Given the description of an element on the screen output the (x, y) to click on. 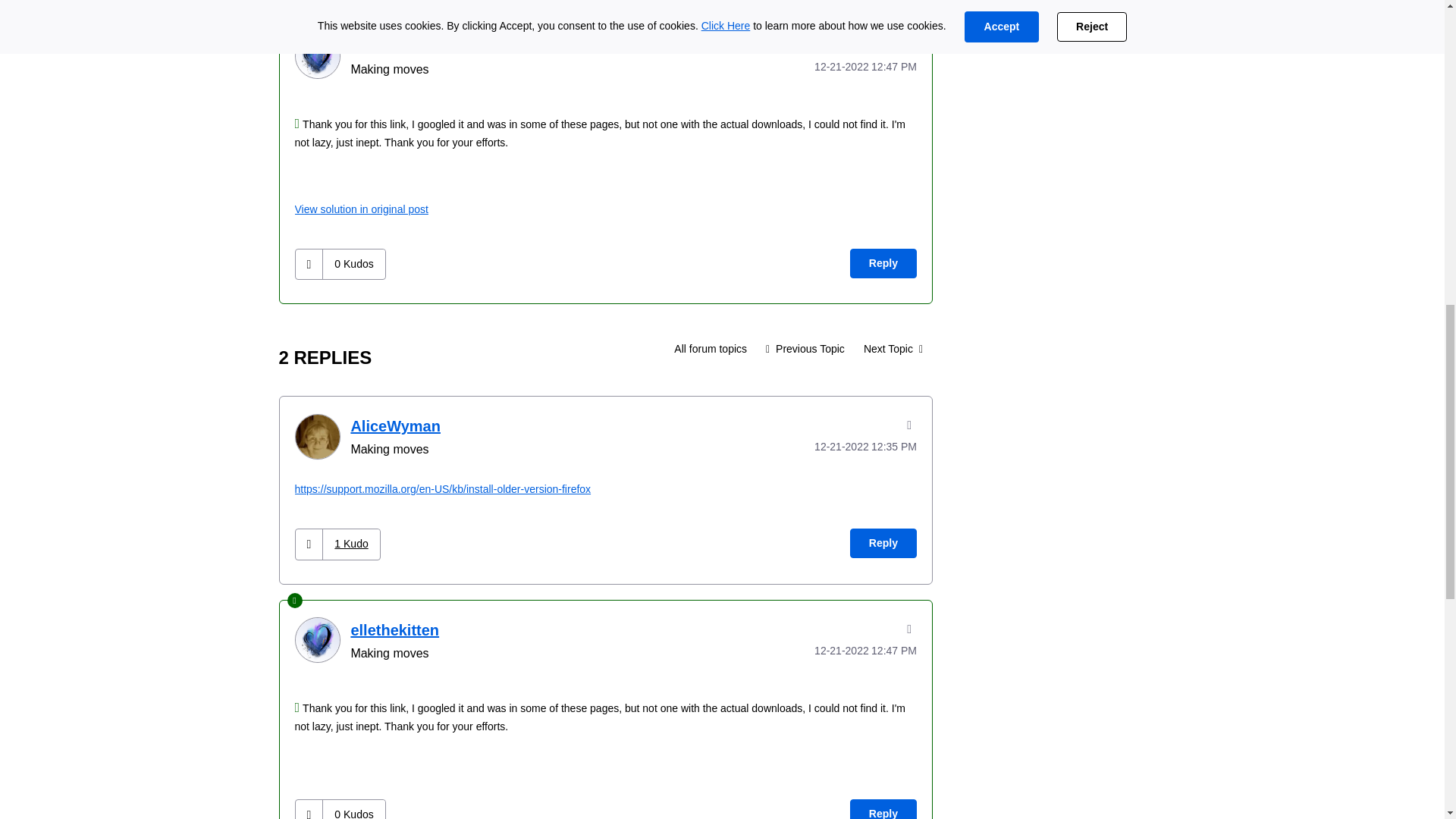
Ticketmaster is a paid sponsor for Firefox? (893, 348)
Discussions (710, 348)
The total number of kudos this post has received. (353, 263)
Click here to give kudos to this post. (309, 264)
ellethekitten (316, 55)
colorway themes could be better (804, 348)
